Given the description of an element on the screen output the (x, y) to click on. 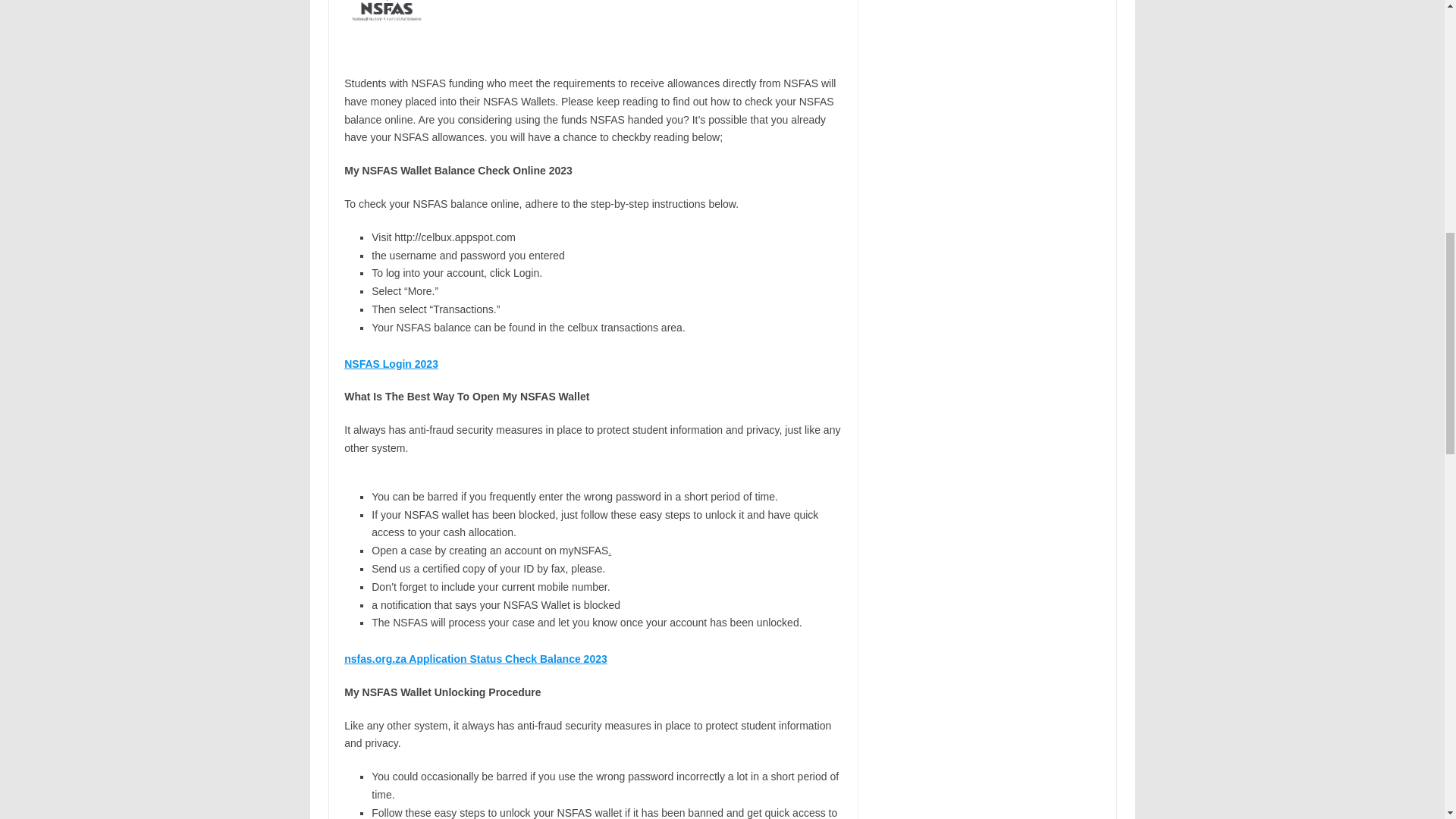
Advertisement (987, 47)
NSFAS Login 2023 (390, 363)
nsfas.org.za Application Status Check Balance 2023 (475, 658)
